Given the description of an element on the screen output the (x, y) to click on. 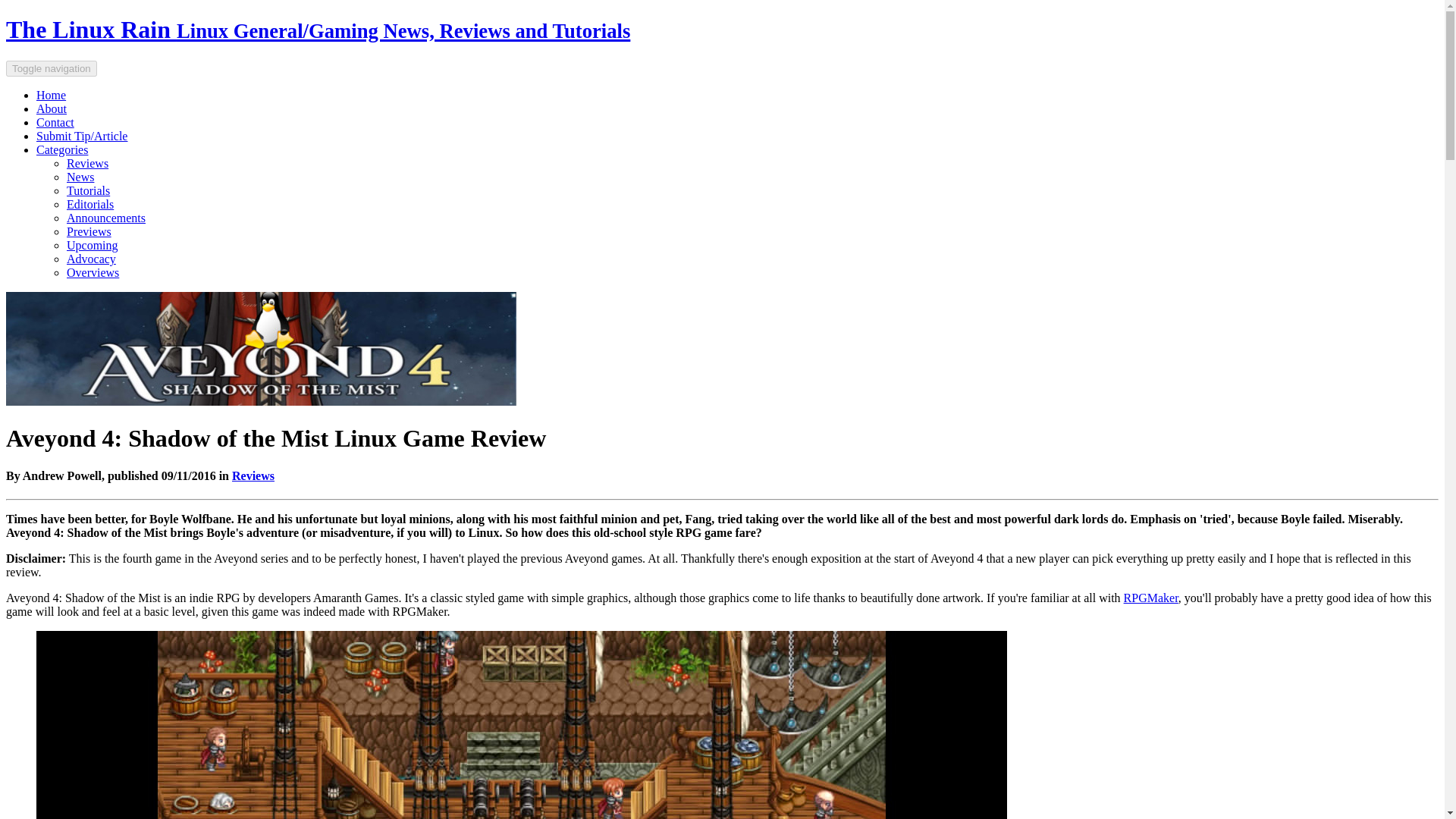
RPGMaker (1150, 597)
News (80, 176)
Upcoming (91, 245)
Editorials (89, 204)
Advocacy (91, 258)
About (51, 108)
Home (50, 94)
Categories (61, 149)
Overviews (92, 272)
Previews (89, 231)
